Given the description of an element on the screen output the (x, y) to click on. 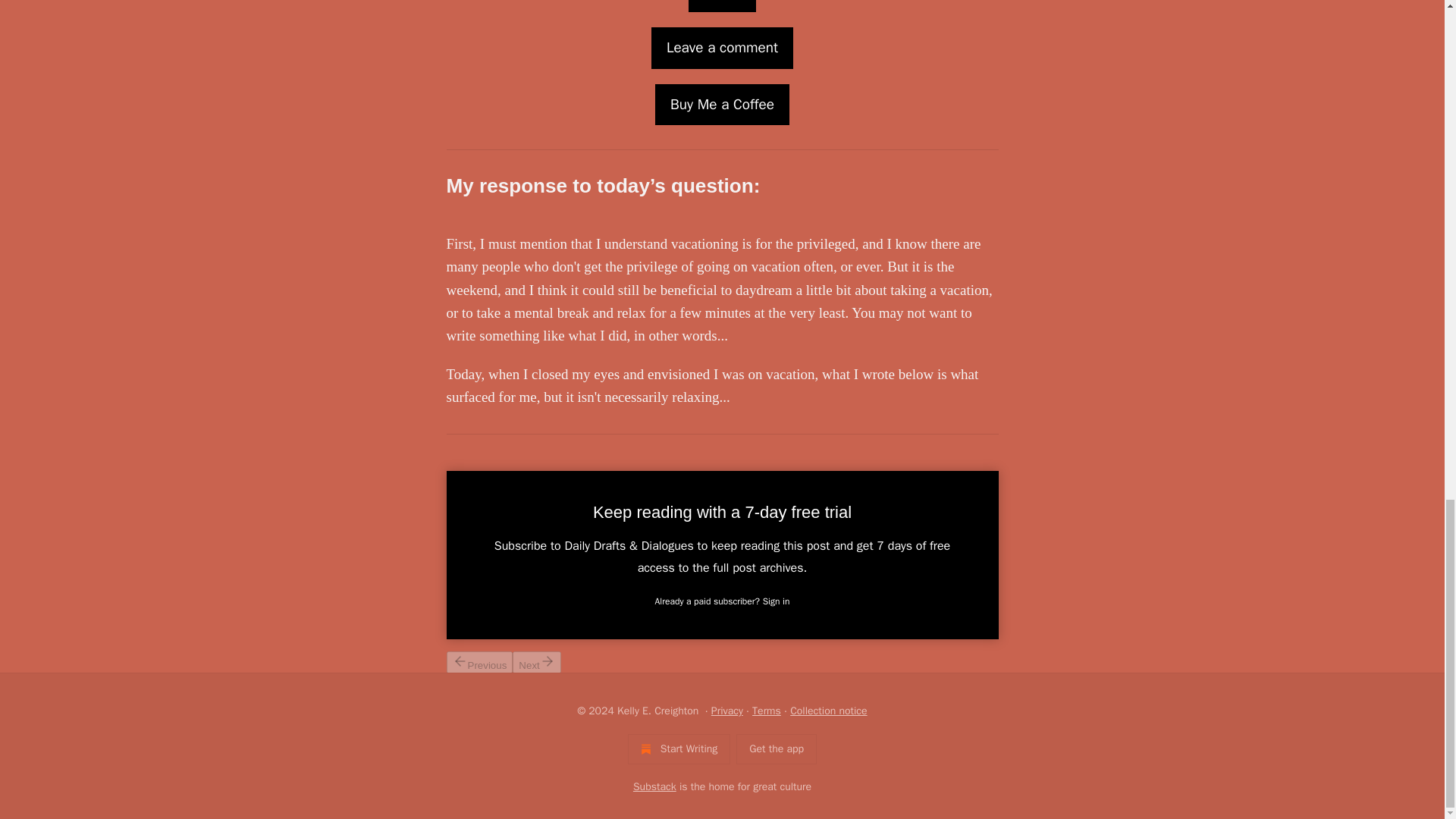
Previous (478, 662)
Start Writing (678, 748)
Leave a comment (721, 47)
Get the app (776, 748)
Collection notice (828, 710)
Privacy (726, 710)
Share (721, 6)
Substack (655, 786)
Buy Me a Coffee (722, 104)
Next (536, 662)
